Given the description of an element on the screen output the (x, y) to click on. 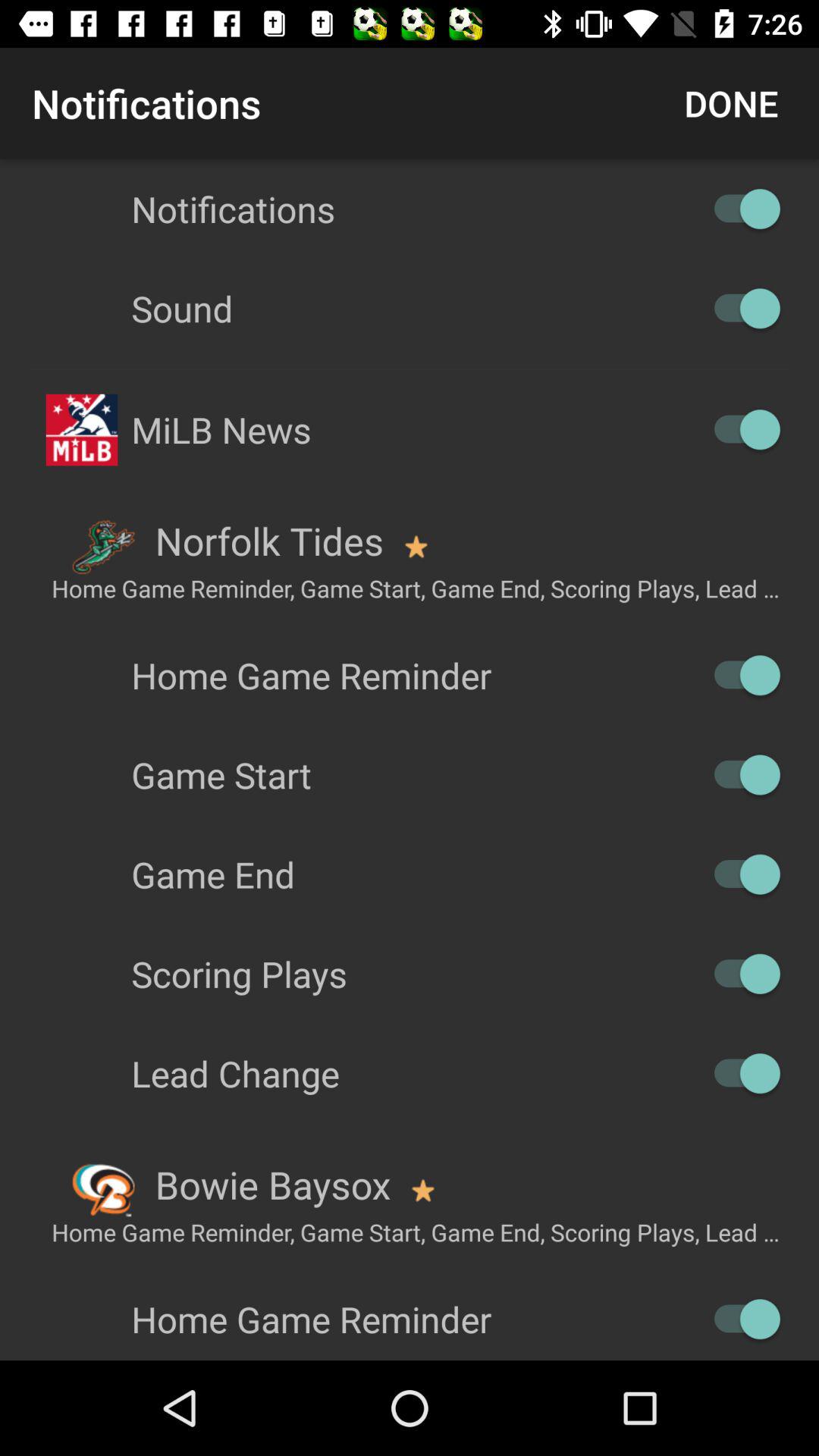
toggle all notifications for milb news (739, 429)
